Given the description of an element on the screen output the (x, y) to click on. 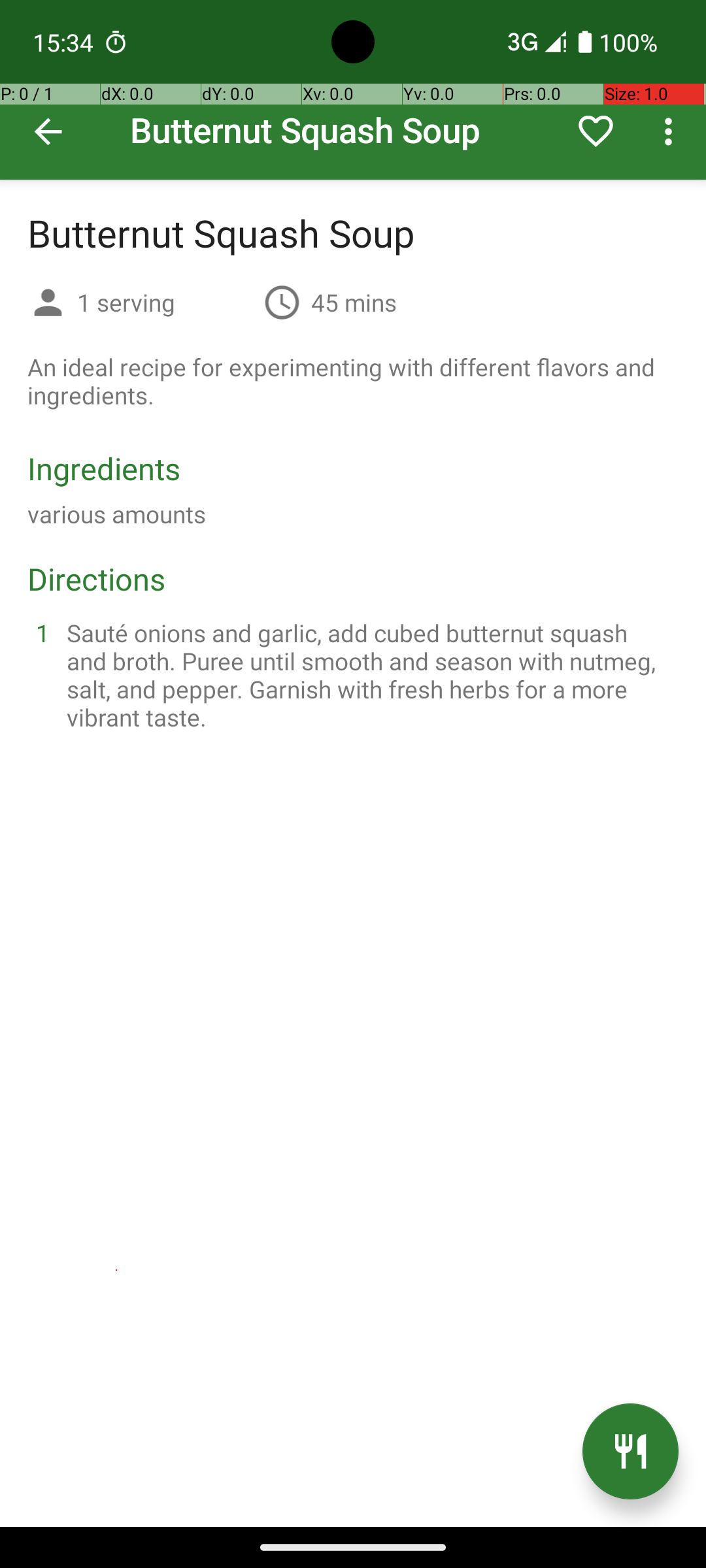
Sauté onions and garlic, add cubed butternut squash and broth. Puree until smooth and season with nutmeg, salt, and pepper. Garnish with fresh herbs for a more vibrant taste. Element type: android.widget.TextView (368, 674)
